Given the description of an element on the screen output the (x, y) to click on. 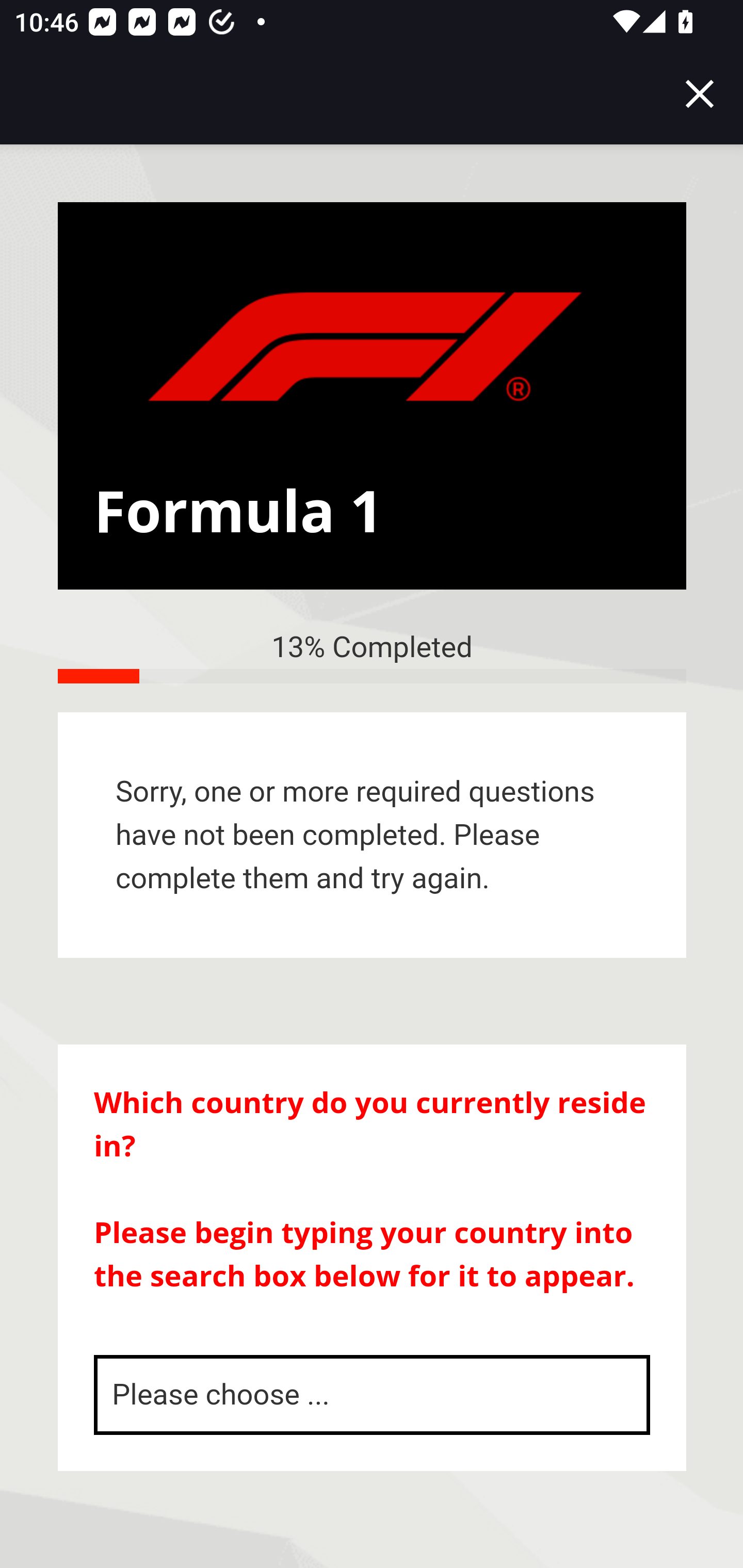
Close (699, 93)
Please choose ... (372, 1394)
